Given the description of an element on the screen output the (x, y) to click on. 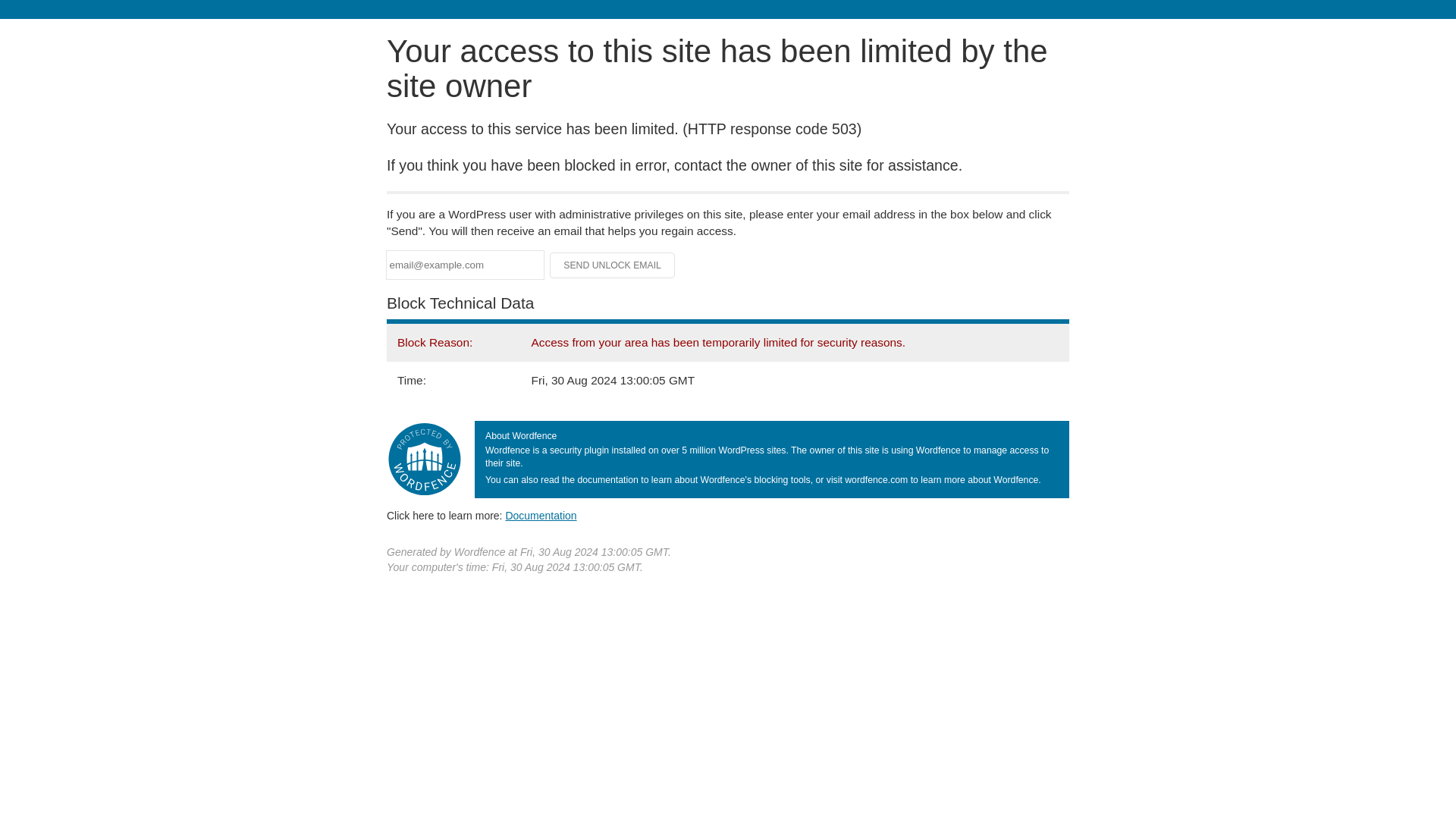
Documentation (540, 515)
Send Unlock Email (612, 265)
Send Unlock Email (612, 265)
